Given the description of an element on the screen output the (x, y) to click on. 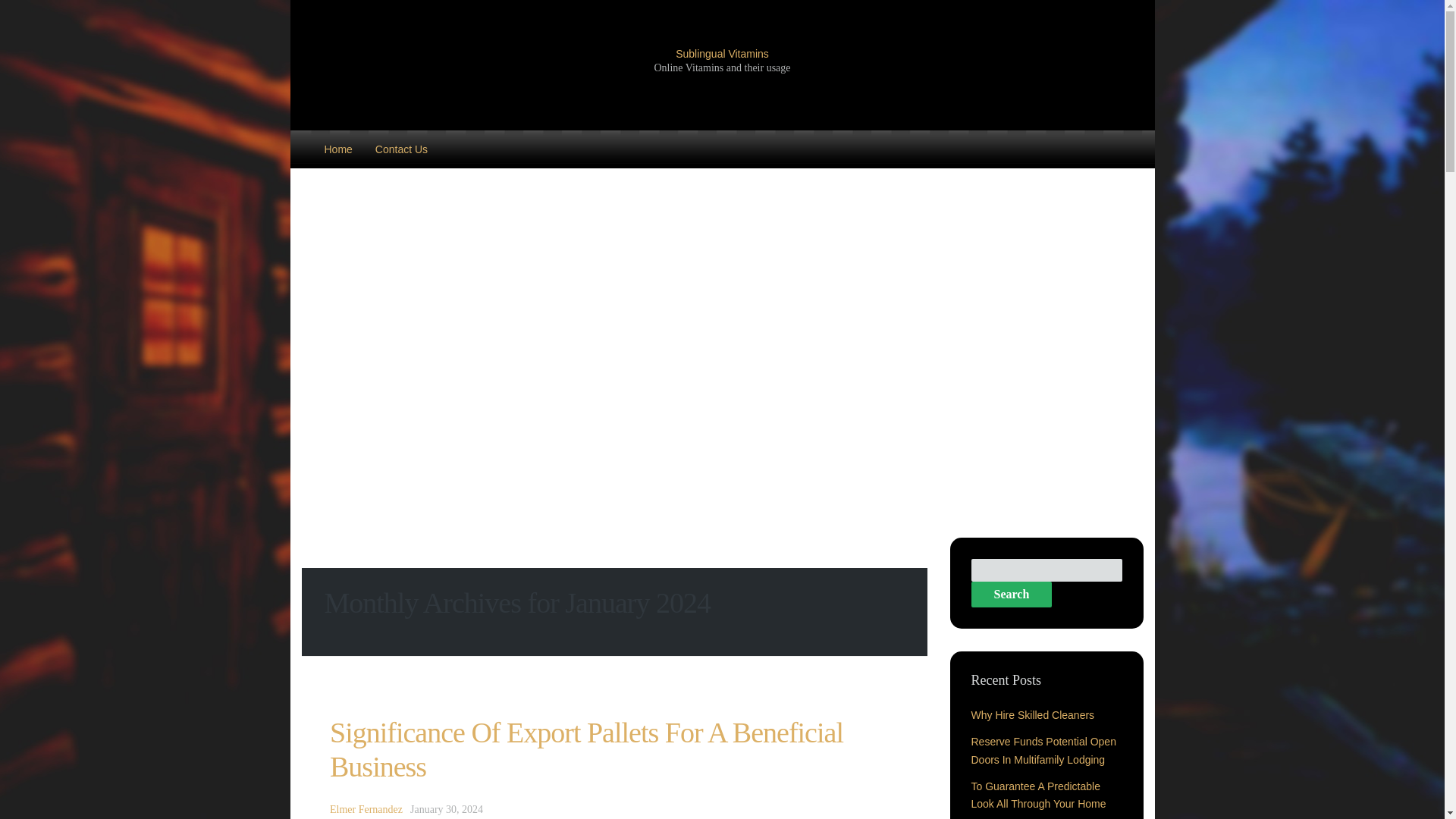
Search (1011, 594)
Sublingual Vitamins (721, 53)
Why Hire Skilled Cleaners (1032, 715)
Contact Us (401, 149)
Reserve Funds Potential Open Doors In Multifamily Lodging (1043, 749)
Search (1011, 594)
To Guarantee A Predictable Look All Through Your Home (1038, 794)
Home (337, 149)
Significance Of Export Pallets For A Beneficial Business (586, 749)
Home (337, 149)
